Given the description of an element on the screen output the (x, y) to click on. 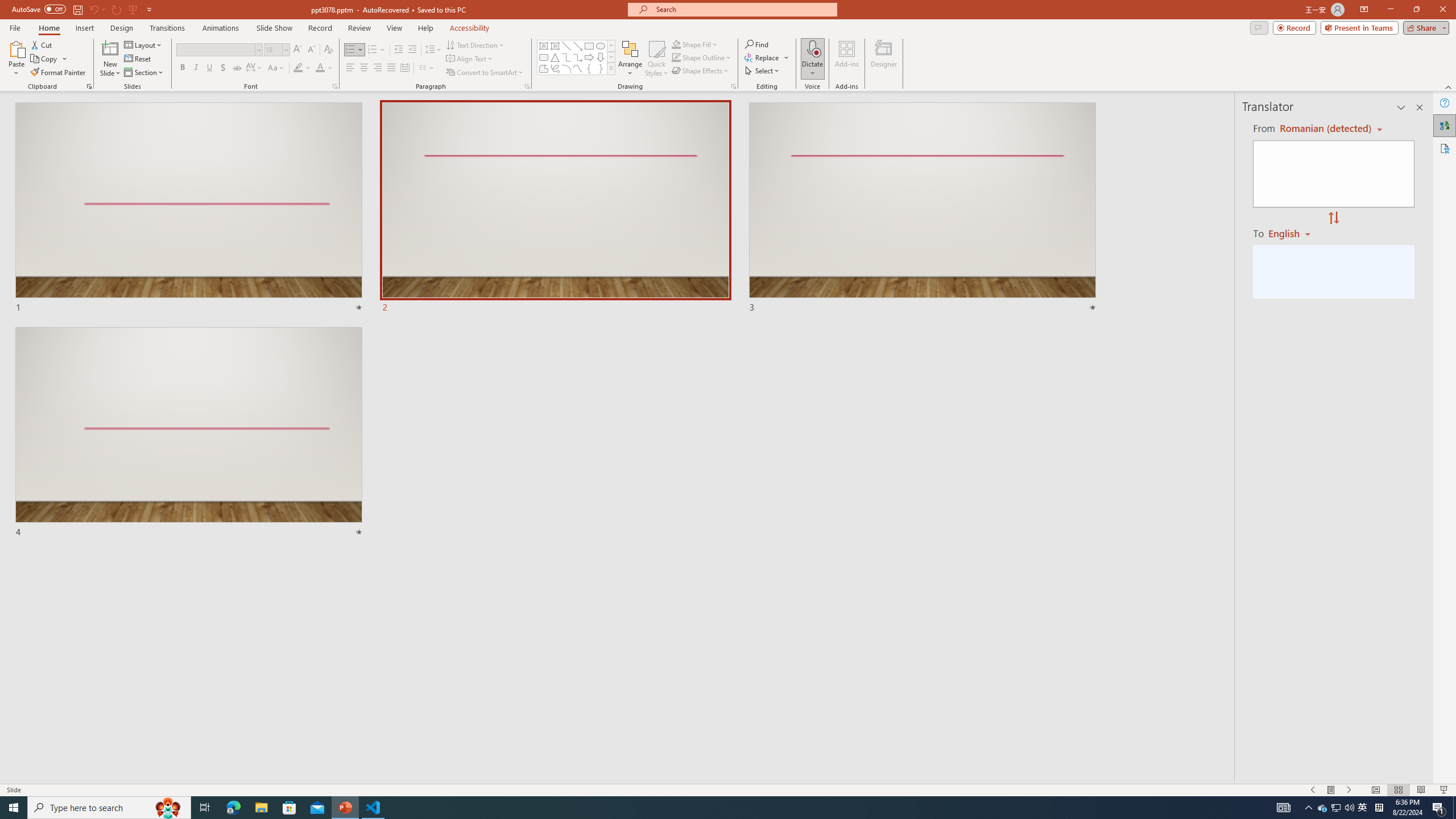
Shape Fill Dark Green, Accent 2 (675, 44)
Romanian (1293, 232)
Shape Effects (700, 69)
